Given the description of an element on the screen output the (x, y) to click on. 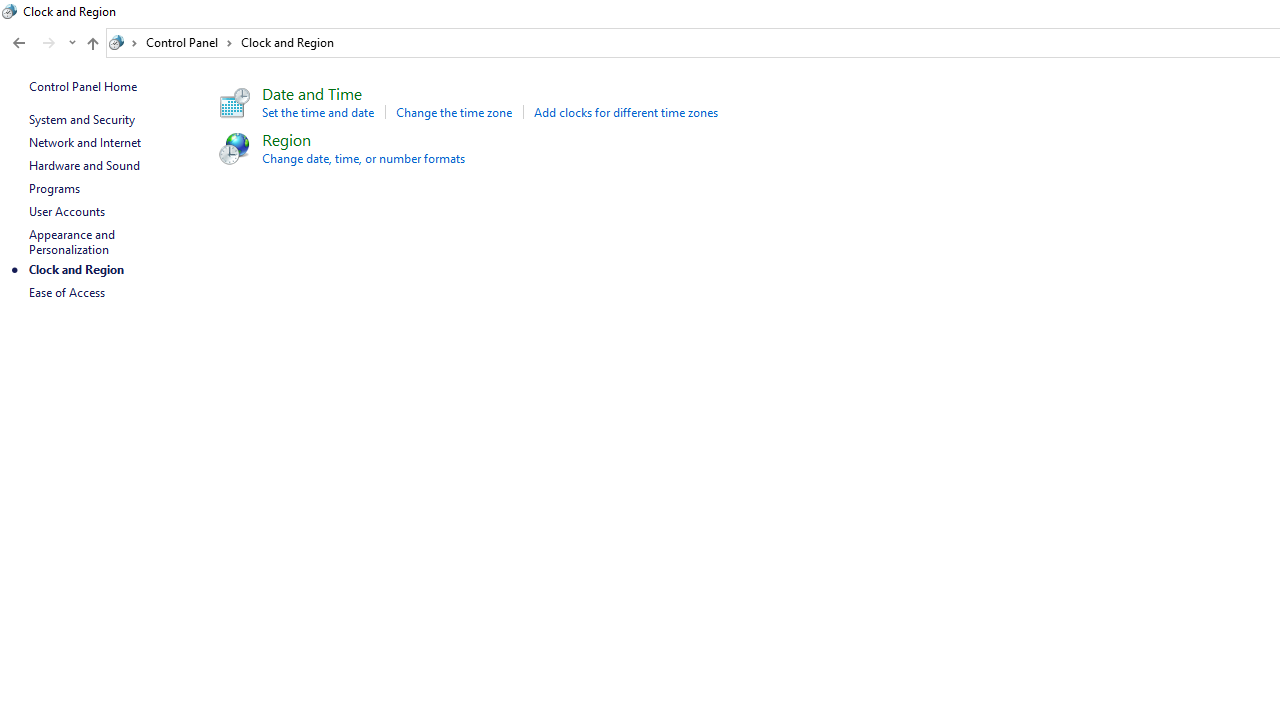
Date and Time (311, 92)
Navigation buttons (41, 43)
Control Panel (189, 42)
Back to Appearance and Personalization (Alt + Left Arrow) (18, 43)
Hardware and Sound (84, 164)
All locations (124, 42)
System (10, 11)
Clock and Region (286, 42)
User Accounts (66, 210)
Change the time zone (454, 112)
Change date, time, or number formats (363, 158)
